Given the description of an element on the screen output the (x, y) to click on. 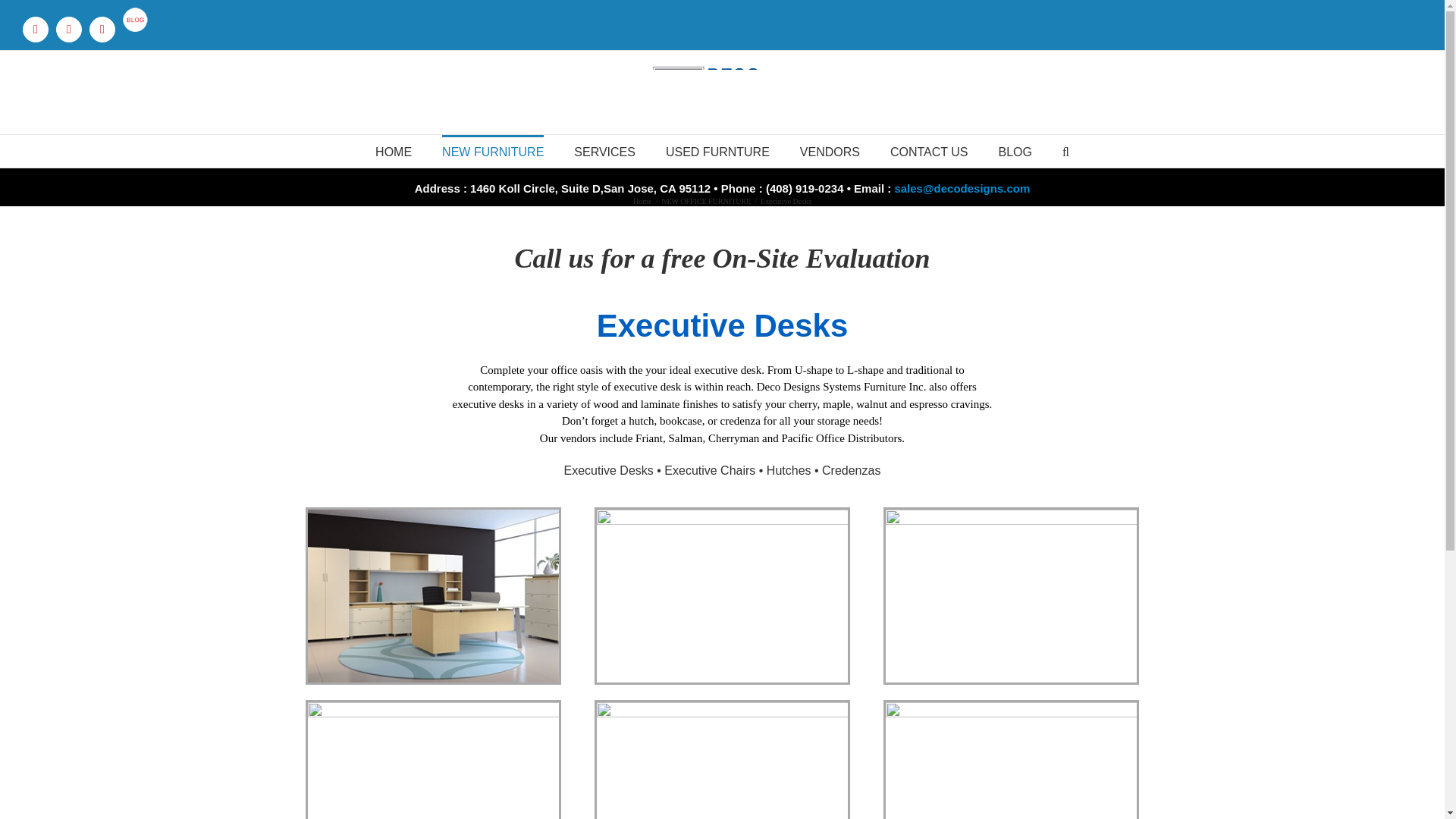
executive-desks2 (721, 595)
Home (641, 201)
executive-desks1 (433, 595)
Facebook (35, 29)
Pinterest (68, 29)
Pinterest (68, 29)
Facebook (35, 29)
BLOG (1013, 151)
NEW FURNITURE (492, 151)
SERVICES (603, 151)
